Given the description of an element on the screen output the (x, y) to click on. 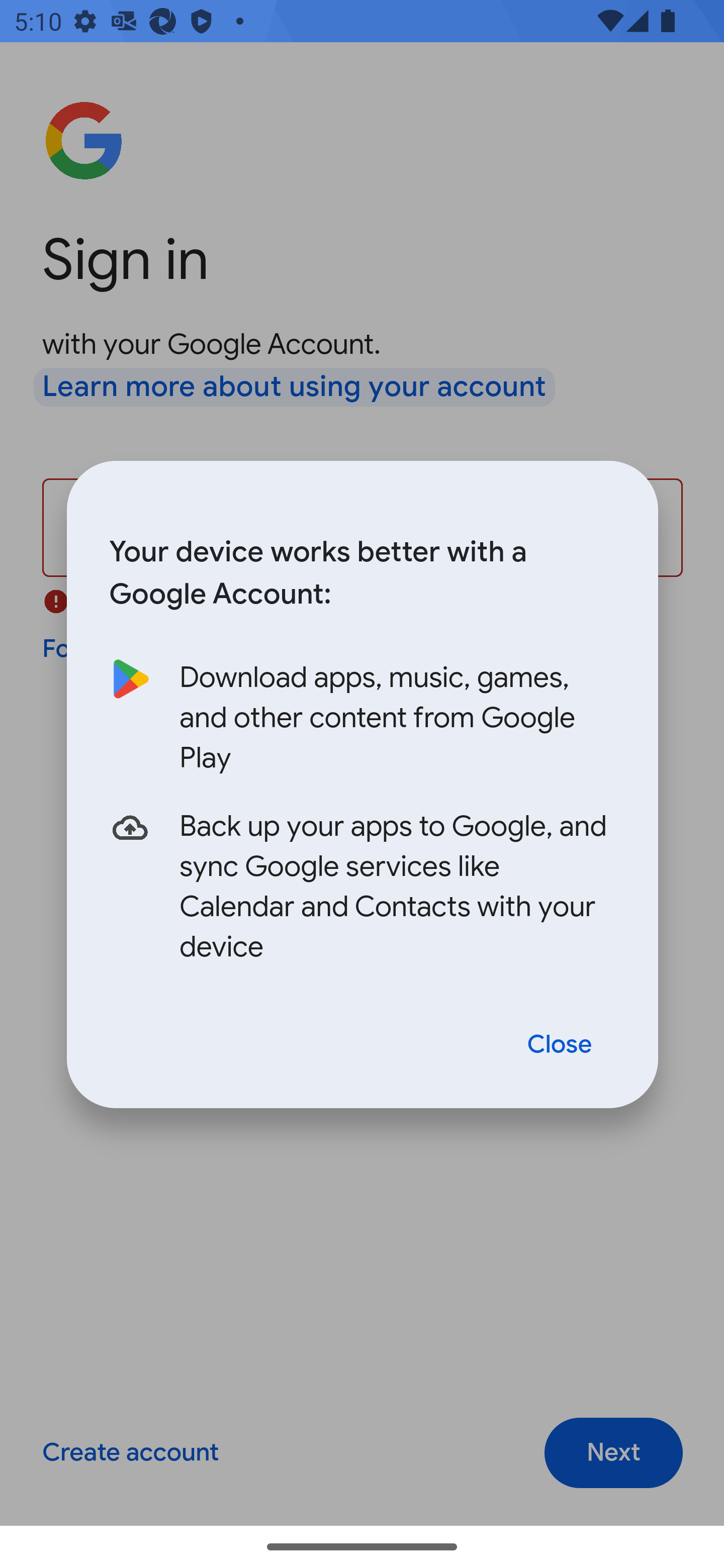
Close (560, 1044)
